Given the description of an element on the screen output the (x, y) to click on. 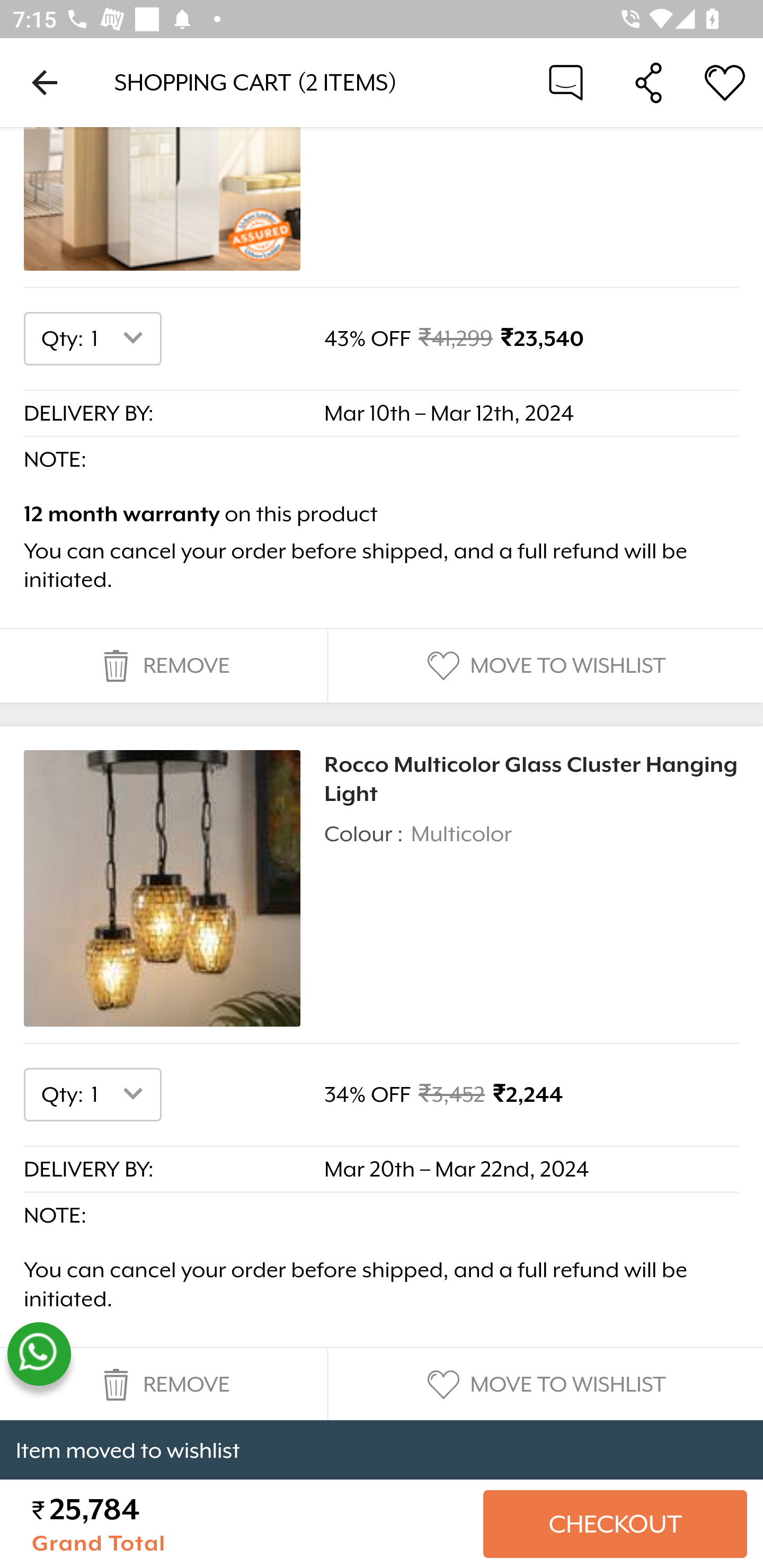
Navigate up (44, 82)
Chat (565, 81)
Share Cart (648, 81)
Wishlist (724, 81)
1 (121, 339)
REMOVE (163, 666)
MOVE TO WISHLIST (544, 666)
1 (121, 1095)
whatsapp (38, 1354)
REMOVE (163, 1384)
MOVE TO WISHLIST (544, 1384)
₹ 50,003 Grand Total (250, 1524)
CHECKOUT (614, 1524)
